Given the description of an element on the screen output the (x, y) to click on. 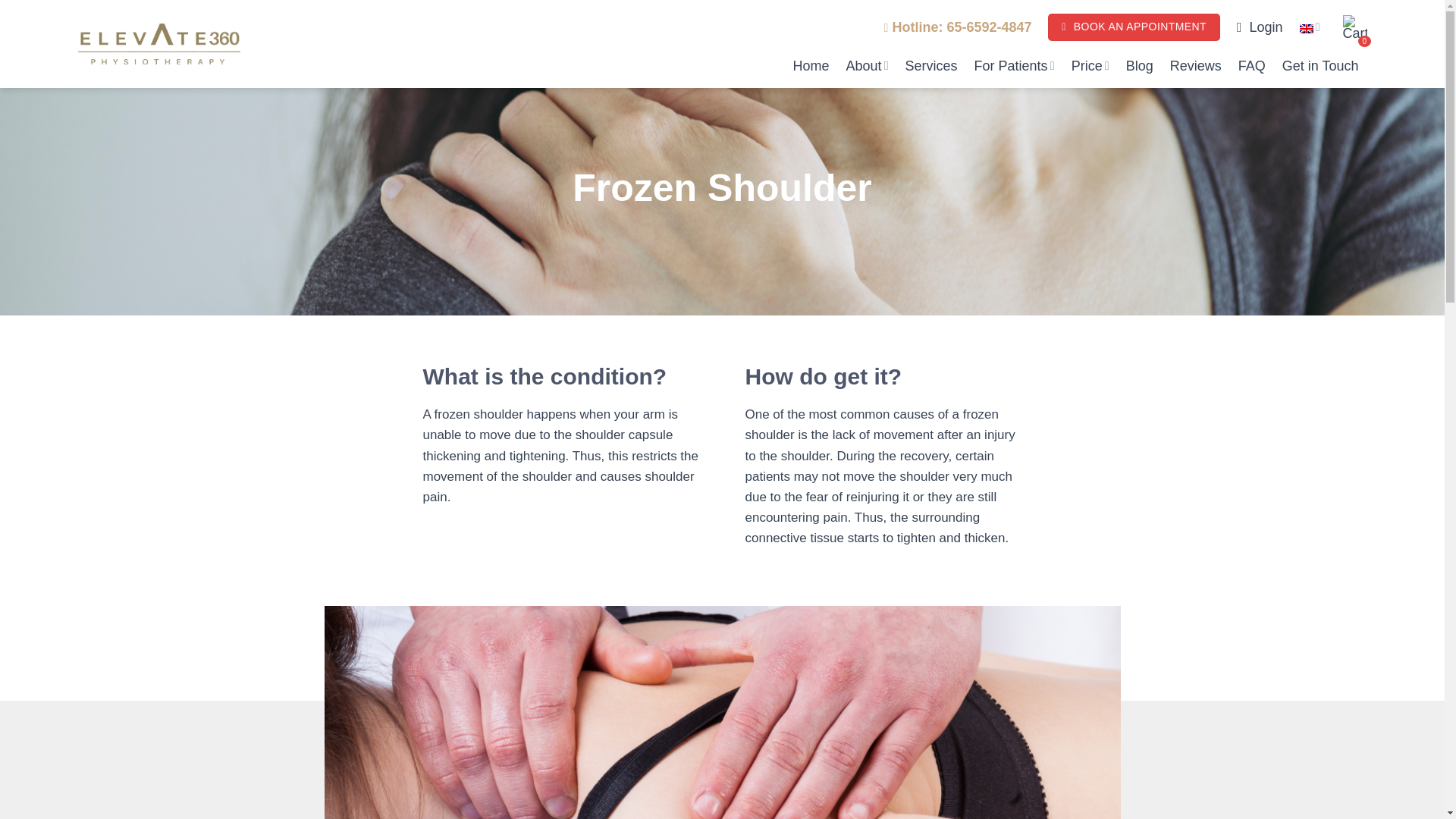
Price (1090, 65)
Login (1259, 26)
Hotline: 65-6592-4847 (960, 26)
Blog (1139, 65)
About (866, 65)
FAQ (1252, 65)
For Patients (1014, 65)
Services (931, 65)
Elevate Physiotherapy (158, 43)
Reviews (1195, 65)
Get in Touch (1320, 65)
BOOK AN APPOINTMENT (1134, 26)
Home (810, 65)
